Given the description of an element on the screen output the (x, y) to click on. 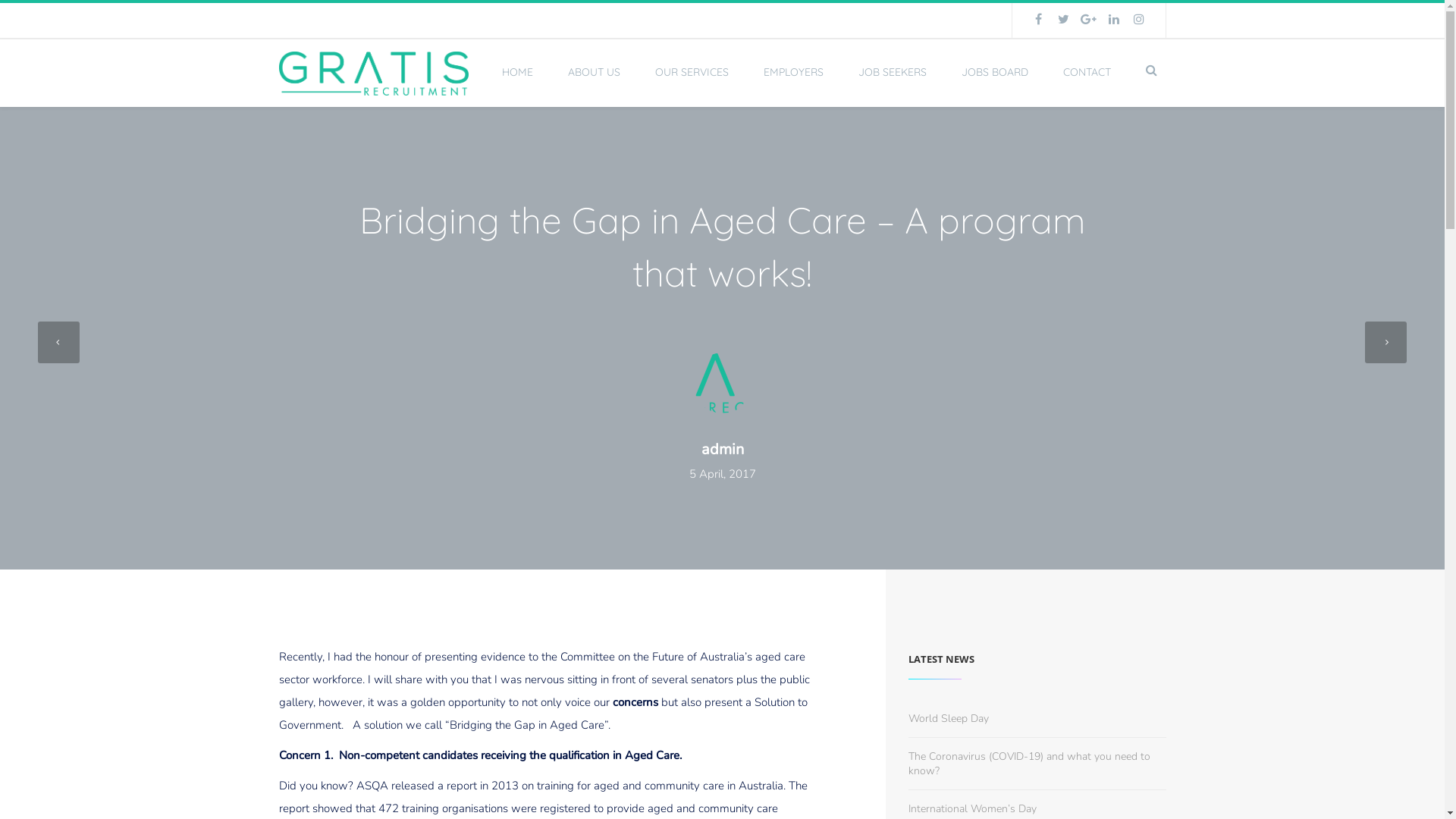
admin Element type: text (721, 449)
HOME Element type: text (517, 72)
JOBS BOARD Element type: text (994, 72)
Gratis Recruitment Element type: hover (373, 73)
The Coronavirus (COVID-19) and what you need to know? Element type: text (1029, 763)
ABOUT US Element type: text (593, 72)
OUR SERVICES Element type: text (691, 72)
CONTACT Element type: text (1086, 72)
World Sleep Day Element type: text (948, 718)
EMPLOYERS Element type: text (792, 72)
JOB SEEKERS Element type: text (892, 72)
